Given the description of an element on the screen output the (x, y) to click on. 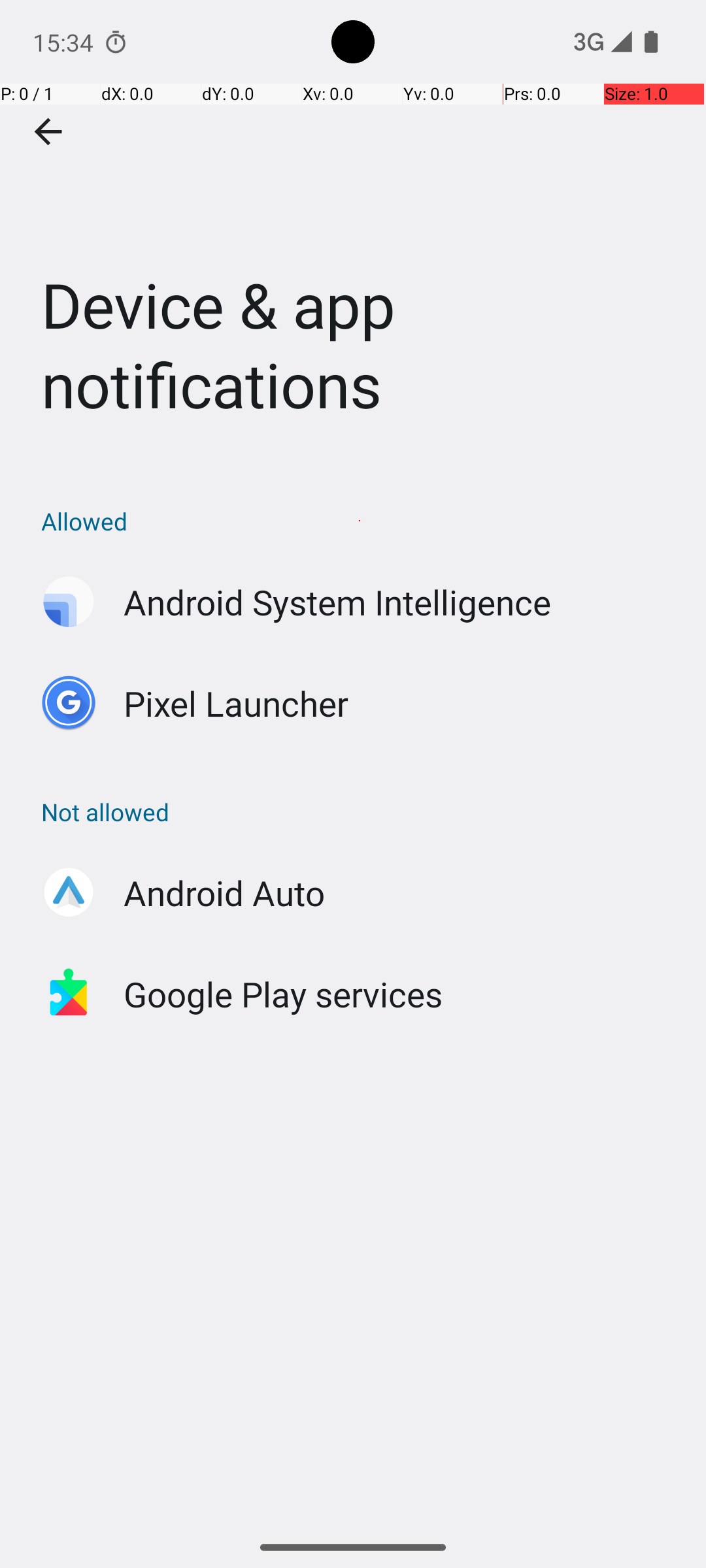
Not allowed Element type: android.widget.TextView (359, 811)
